Given the description of an element on the screen output the (x, y) to click on. 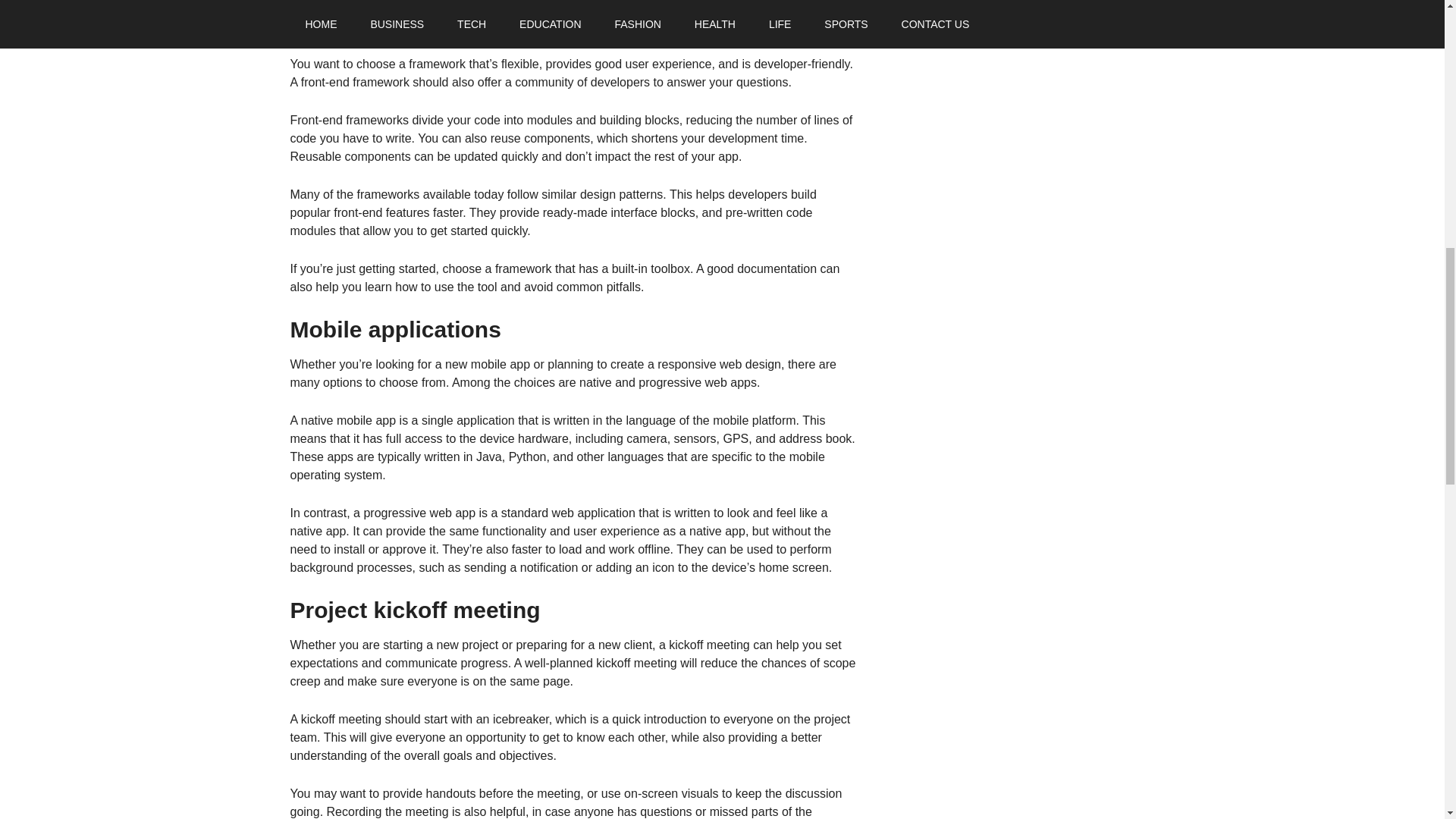
create your web application (570, 7)
